Given the description of an element on the screen output the (x, y) to click on. 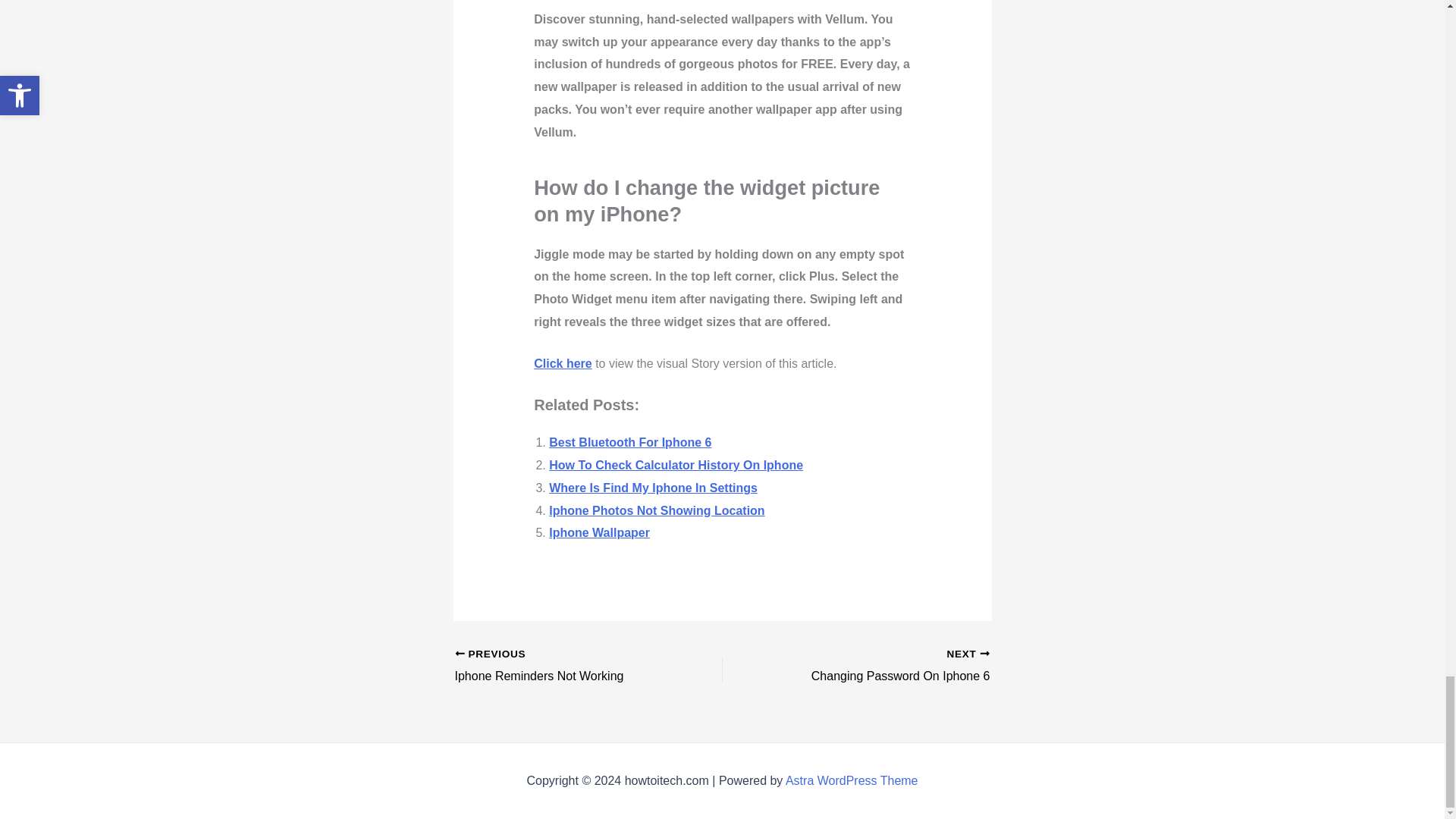
Where Is Find My Iphone In Settings (652, 487)
Where Is Find My Iphone In Settings (652, 487)
Best Bluetooth For Iphone 6 (629, 441)
How To Check Calculator History On Iphone (675, 464)
How To Check Calculator History On Iphone (675, 464)
Iphone Photos Not Showing Location (656, 510)
Click here (562, 363)
Iphone Wallpaper (598, 532)
Iphone Reminders Not Working (561, 666)
Best Bluetooth For Iphone 6 (629, 441)
